Given the description of an element on the screen output the (x, y) to click on. 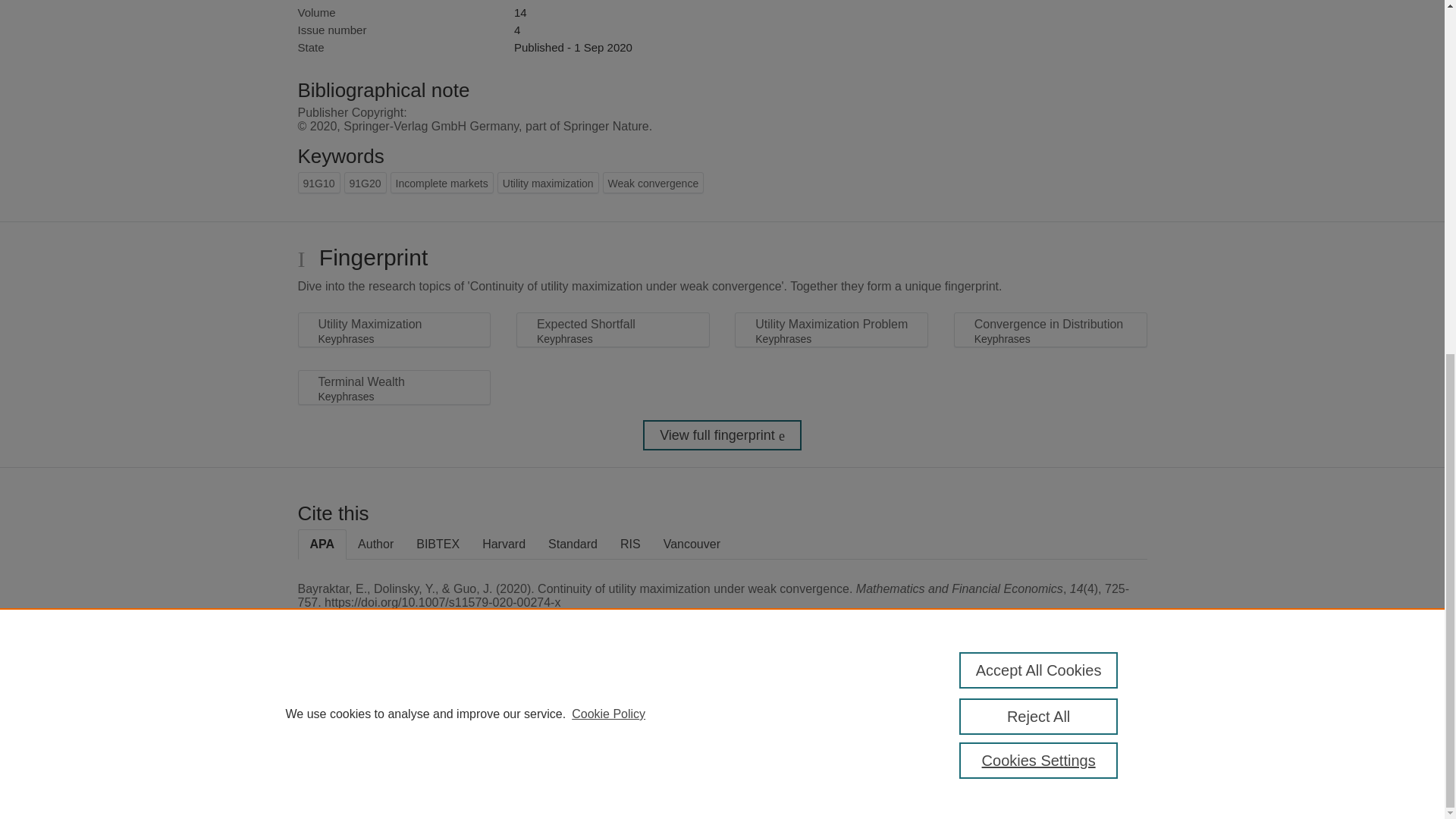
View full fingerprint (722, 435)
use of cookies (796, 760)
Accept All Cookies (1038, 50)
About web accessibility (1088, 713)
Report vulnerability (1088, 745)
Scopus (394, 708)
Pure (362, 708)
Cookie Policy (608, 93)
Reject All (1038, 96)
